Given the description of an element on the screen output the (x, y) to click on. 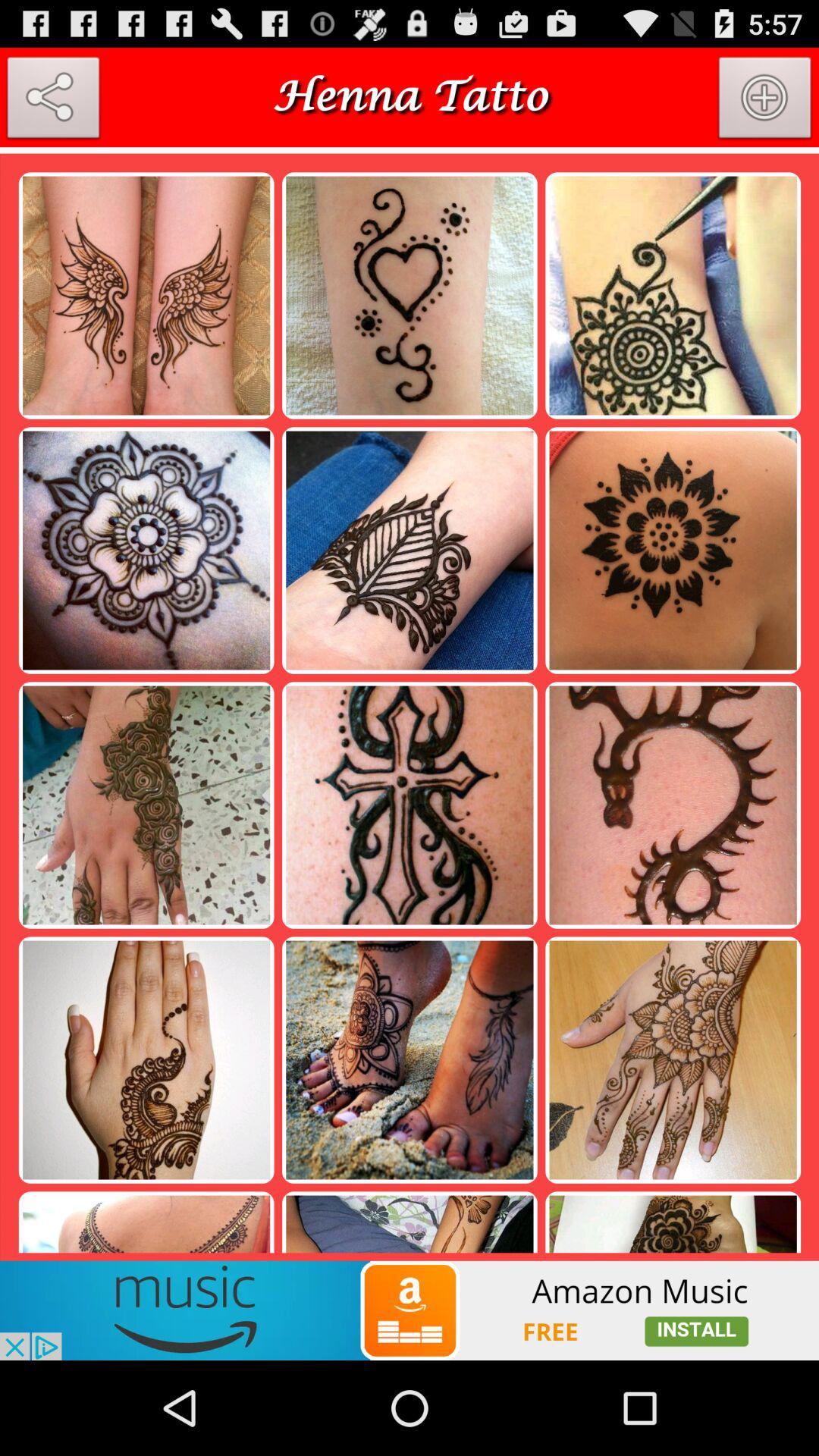
advertisement (409, 1310)
